Given the description of an element on the screen output the (x, y) to click on. 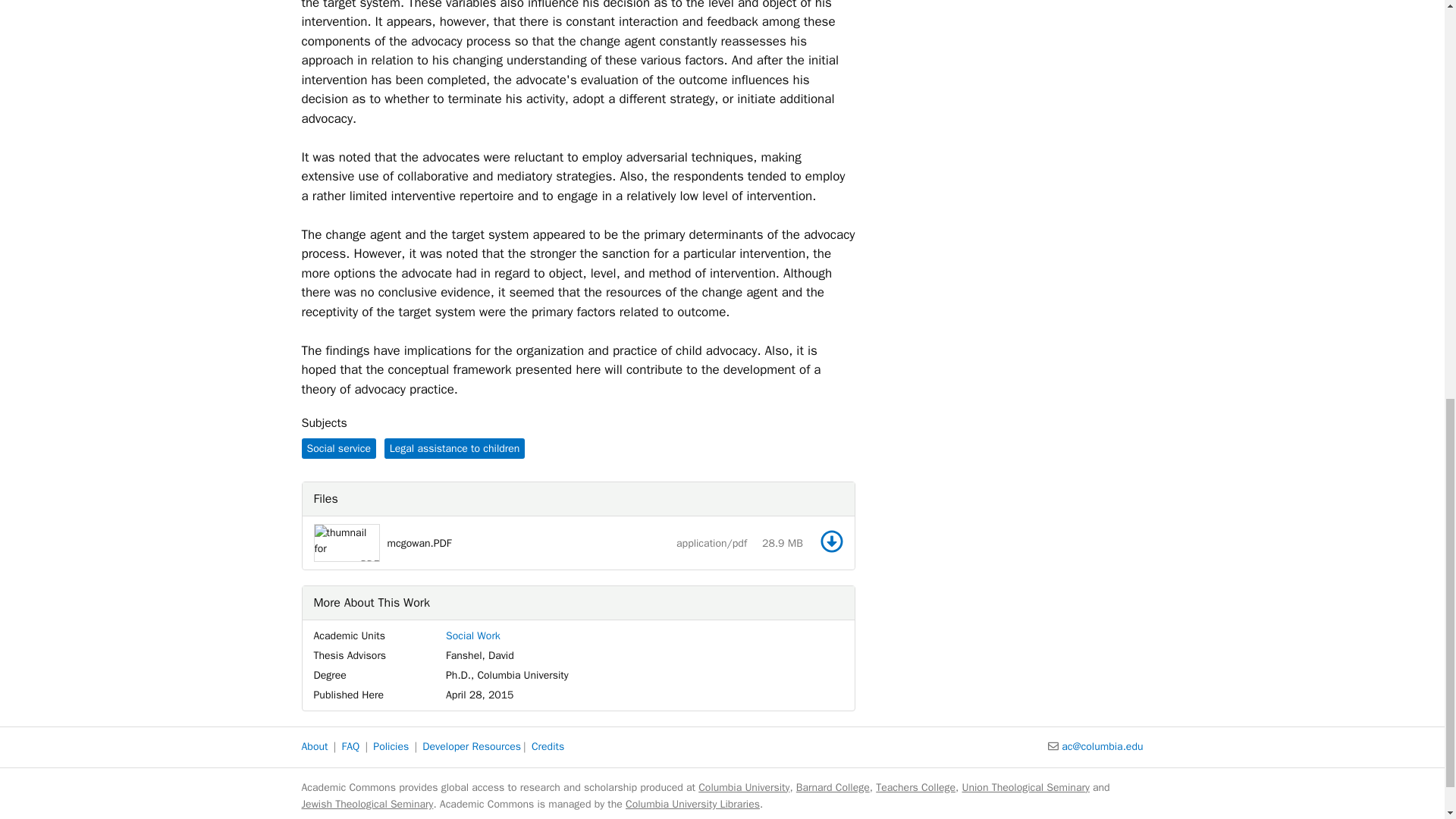
Jewish Theological Seminary (367, 803)
Columbia University (743, 787)
Download file (832, 540)
Columbia University Libraries (693, 803)
Download file (832, 540)
Social service (338, 448)
Teachers College (915, 787)
Social Work (472, 635)
Credits (547, 746)
Policies (390, 746)
